Given the description of an element on the screen output the (x, y) to click on. 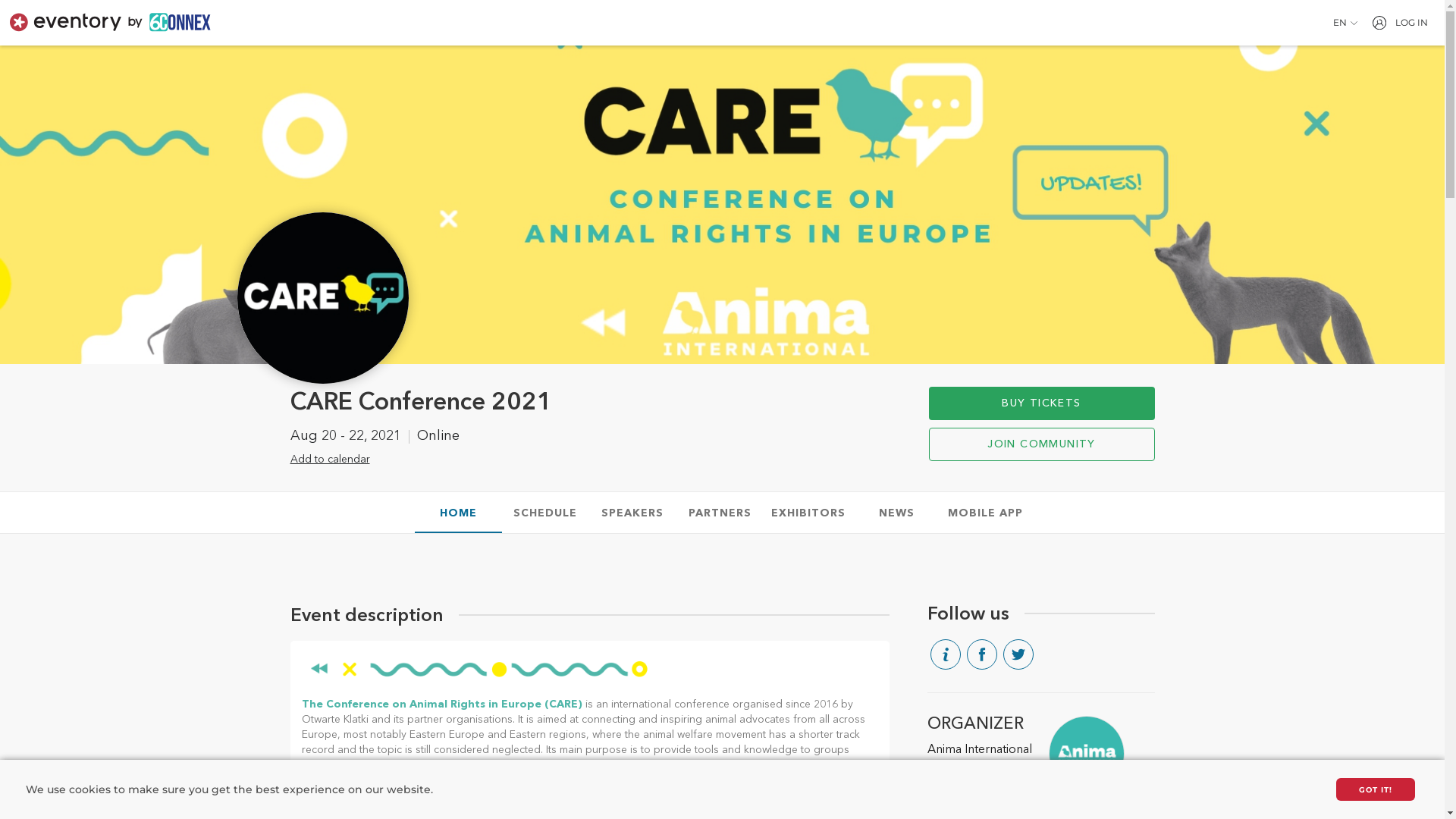
SCHEDULE Element type: text (545, 512)
EN Element type: text (1345, 22)
NEWS Element type: text (895, 512)
www.animainternational.org Element type: text (1001, 804)
MOBILE APP Element type: text (985, 512)
EXHIBITORS Element type: text (807, 512)
GOT IT! Element type: text (1375, 789)
SPEAKERS Element type: text (631, 512)
JOIN COMMUNITY Element type: text (1041, 444)
PARTNERS Element type: text (719, 512)
HOME Element type: text (457, 512)
BUY TICKETS Element type: text (1041, 403)
